Given the description of an element on the screen output the (x, y) to click on. 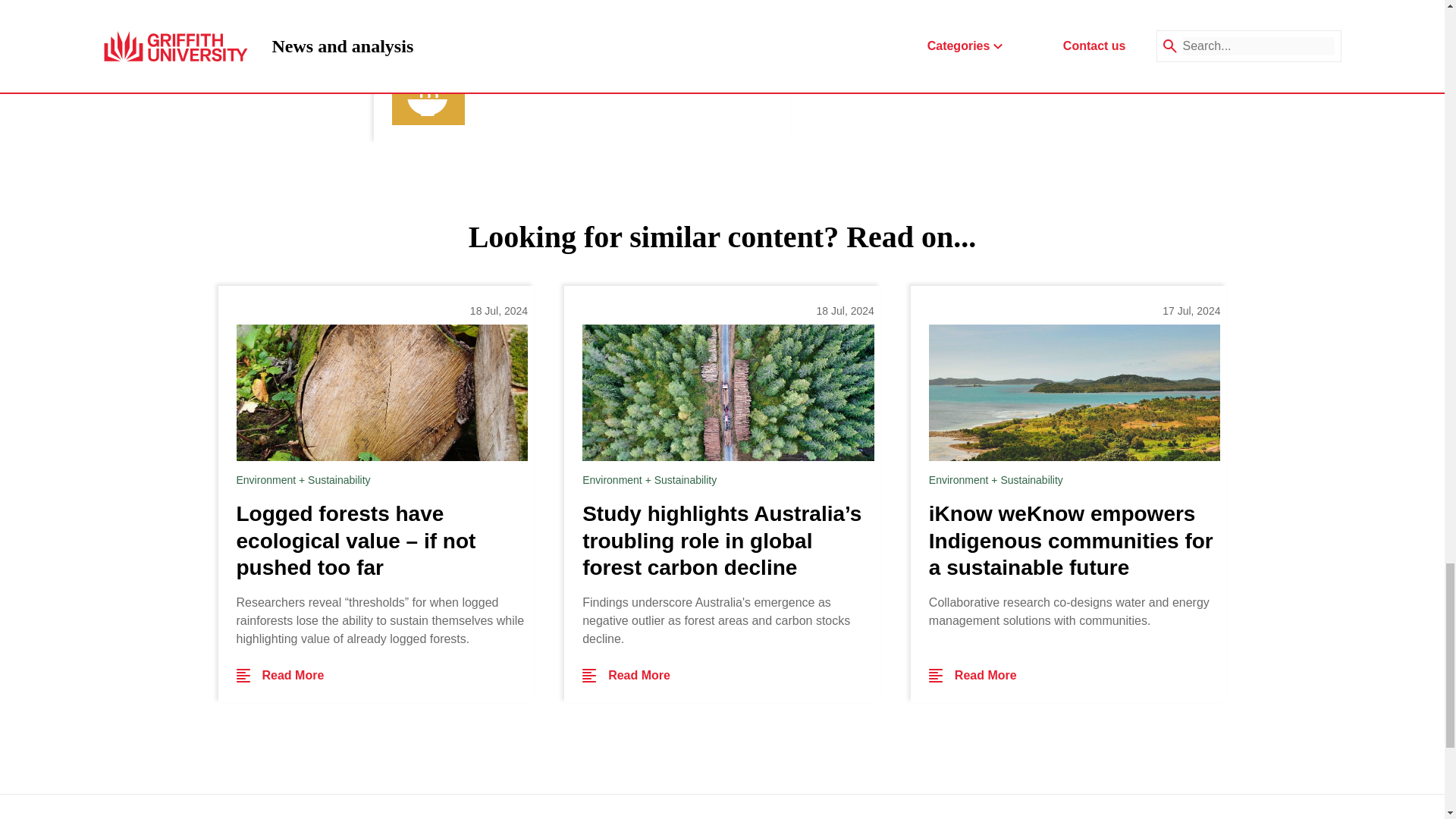
2: Zero Hunger (527, 85)
